Given the description of an element on the screen output the (x, y) to click on. 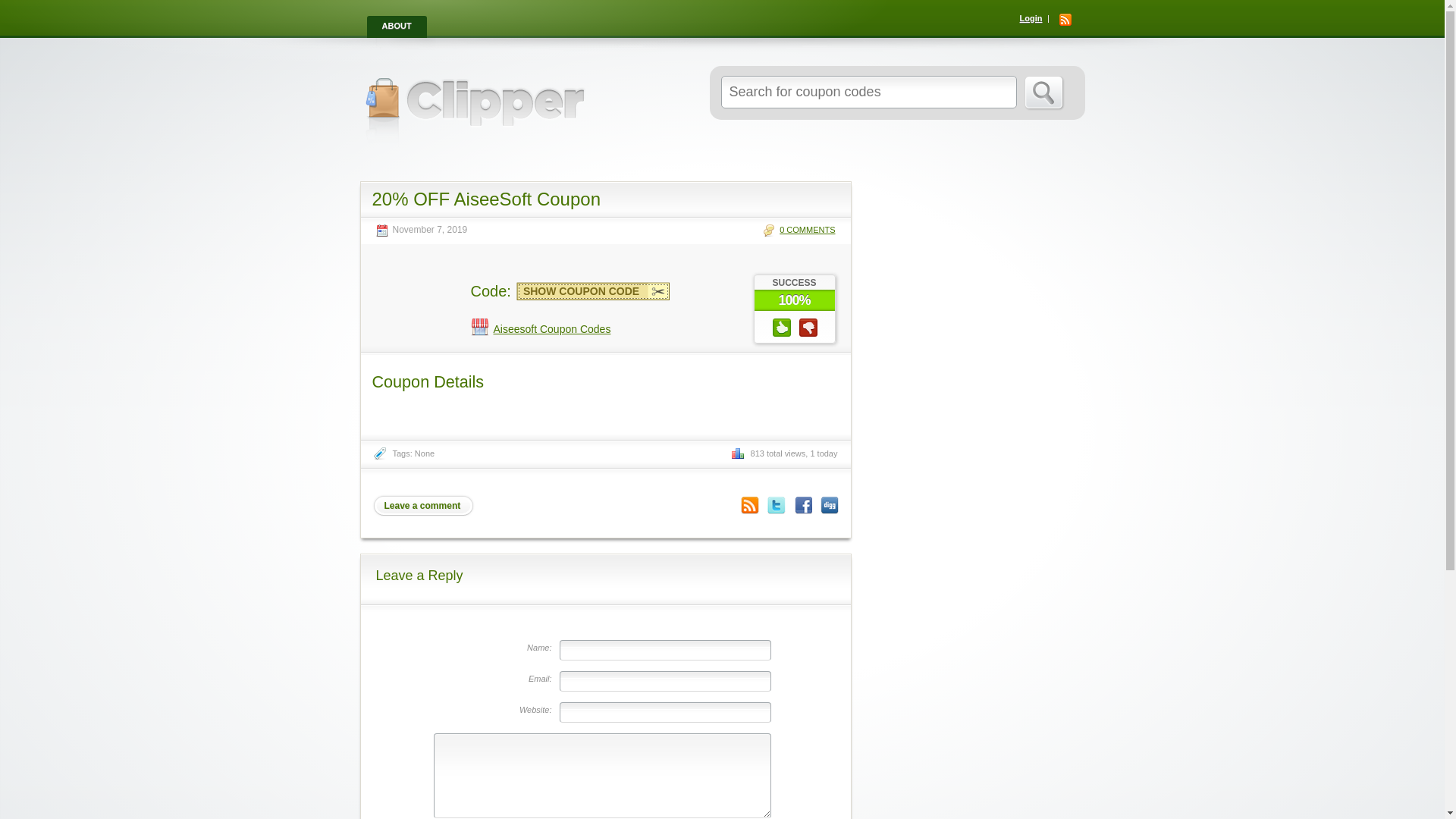
ABOUT (396, 27)
SHOW COUPON CODE (592, 290)
Leave a comment (422, 505)
RSS (1064, 19)
Twitter (776, 505)
Aiseesoft Coupon Codes (540, 328)
Facebook (801, 505)
Search (1043, 93)
Coupon Comments RSS (748, 505)
0 COMMENTS (798, 229)
Login (1031, 17)
Search (1043, 93)
Digg (829, 505)
